Given the description of an element on the screen output the (x, y) to click on. 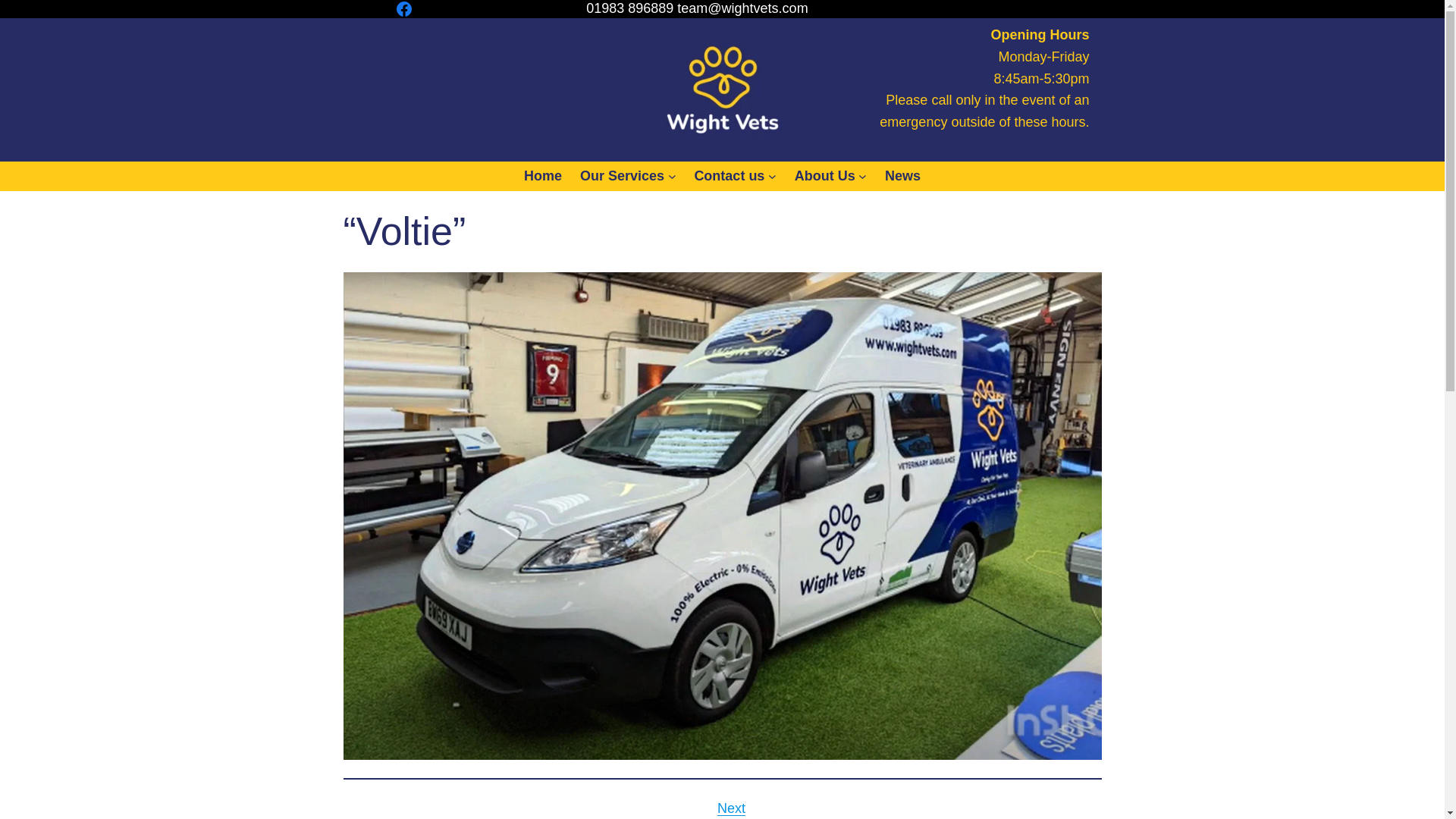
News (902, 176)
Home (543, 176)
About Us (825, 176)
Next (731, 807)
Our Services (621, 176)
Facebook (403, 9)
Contact us (729, 176)
01983 896889 (629, 8)
